Given the description of an element on the screen output the (x, y) to click on. 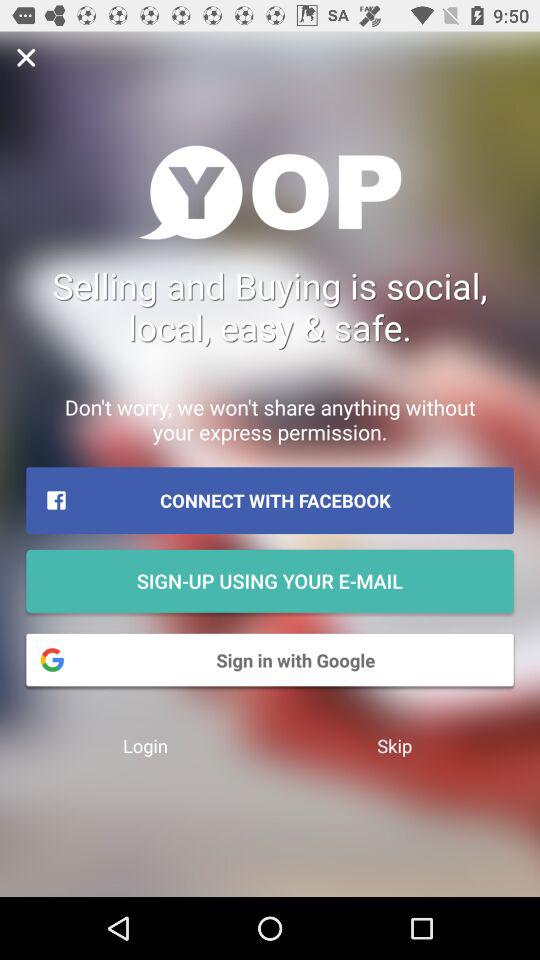
close screen (26, 57)
